Given the description of an element on the screen output the (x, y) to click on. 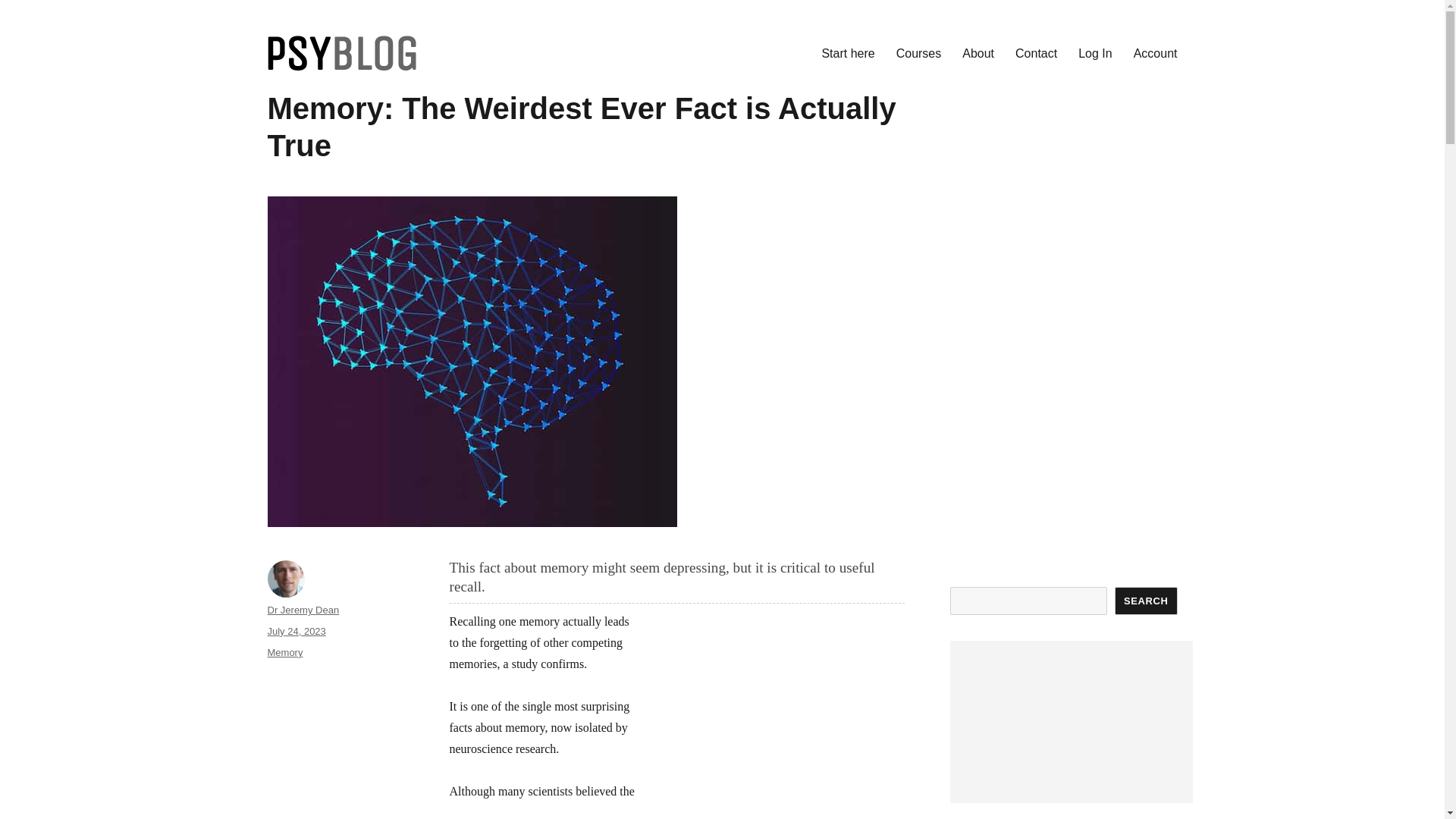
July 24, 2023 (295, 631)
Dr Jeremy Dean (302, 609)
PsyBlog (309, 94)
Log In (1094, 52)
Account (1155, 52)
Memory (284, 652)
Advertisement (776, 714)
About (978, 52)
SEARCH (1146, 601)
Courses (918, 52)
Start here (847, 52)
Contact (1035, 52)
